Given the description of an element on the screen output the (x, y) to click on. 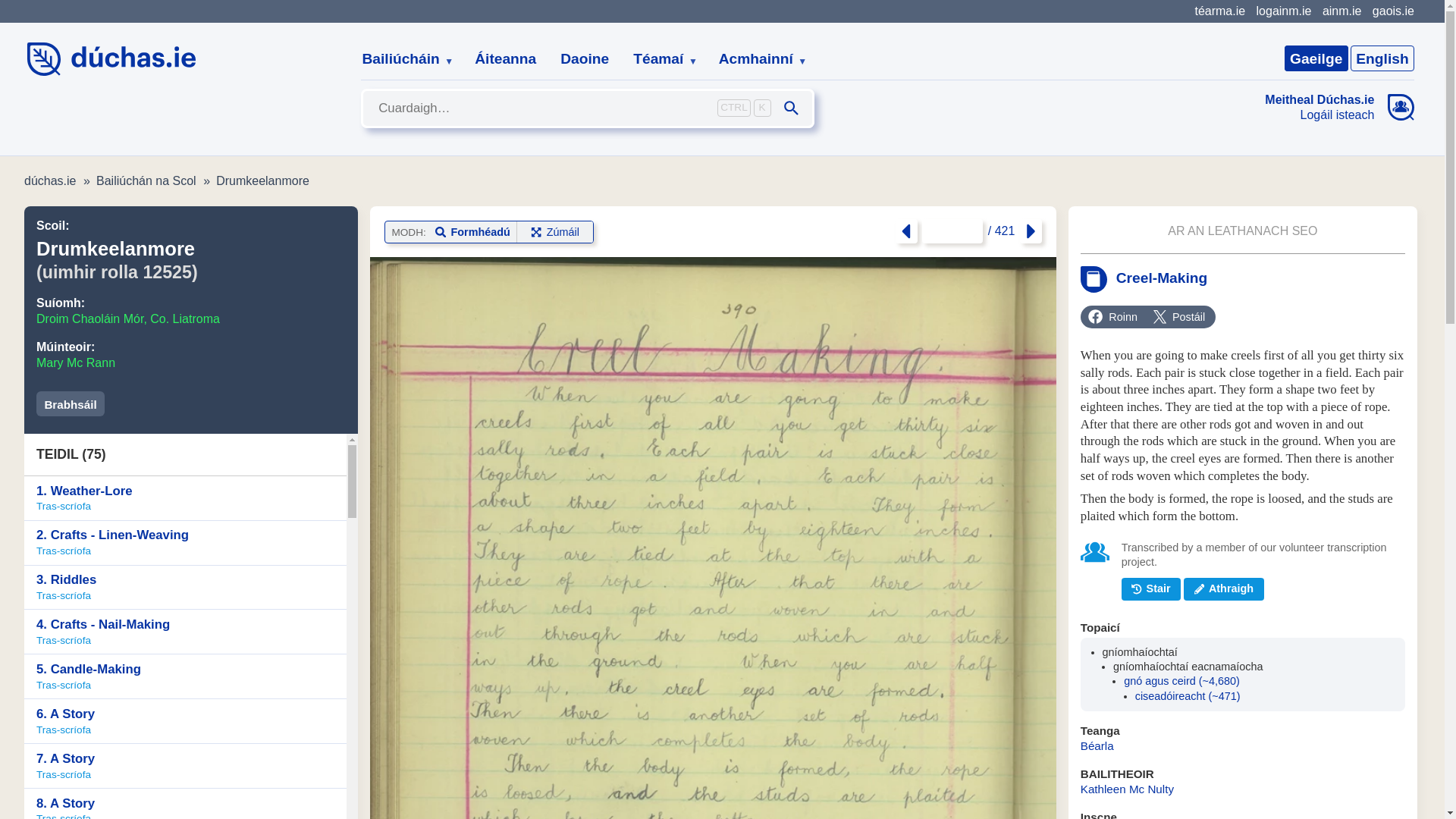
logainm.ie (1283, 11)
Mary Mc Rann (75, 362)
Gaeilge (1316, 58)
ainm.ie (1341, 11)
English (1382, 58)
Daoine (584, 58)
gaois.ie (1393, 11)
Drumkeelanmore (261, 180)
